Given the description of an element on the screen output the (x, y) to click on. 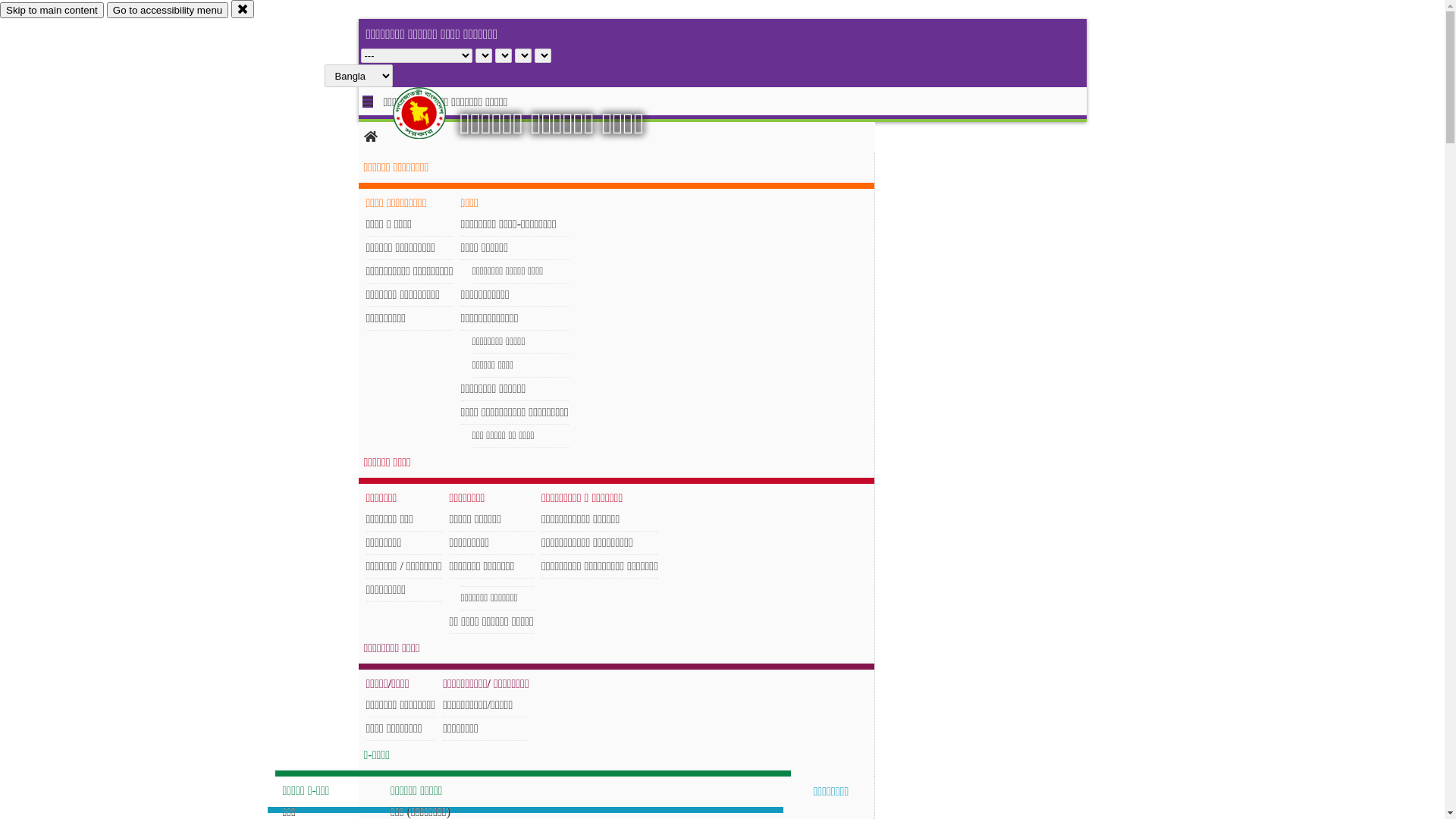
Skip to main content Element type: text (51, 10)

                
             Element type: hover (431, 112)
close Element type: hover (242, 9)
Go to accessibility menu Element type: text (167, 10)
